Given the description of an element on the screen output the (x, y) to click on. 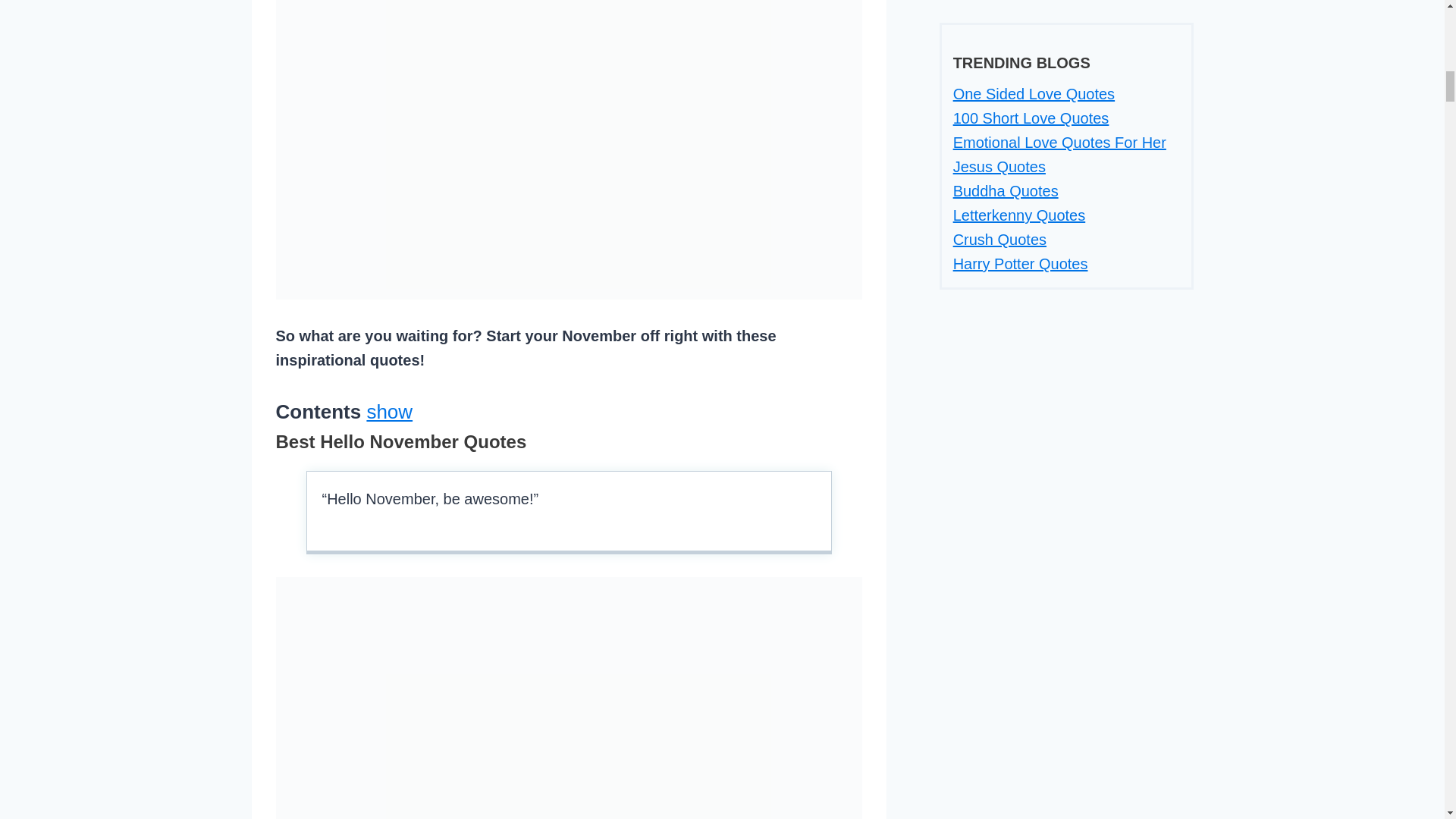
show (389, 411)
